Given the description of an element on the screen output the (x, y) to click on. 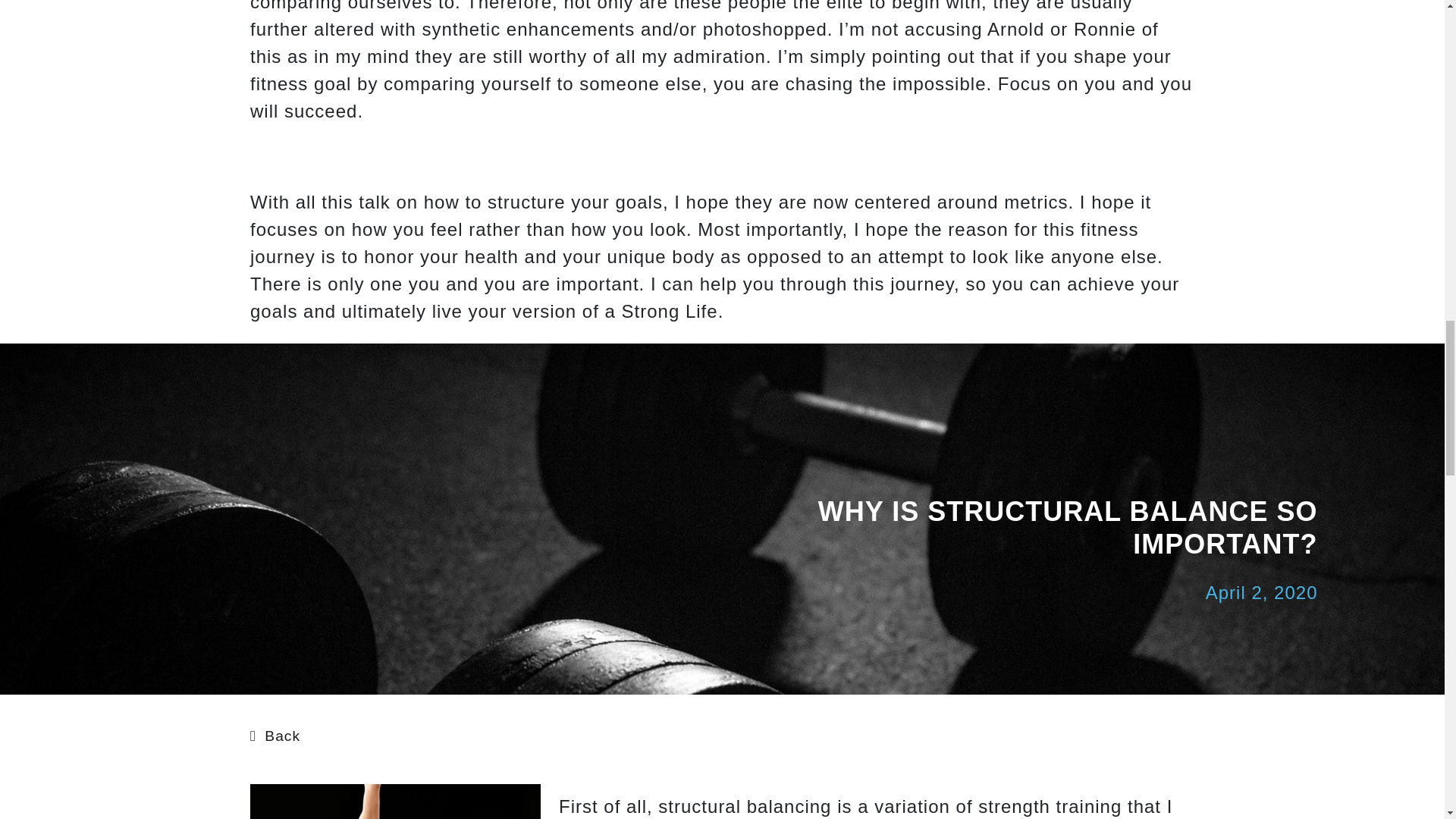
Back (274, 733)
